Given the description of an element on the screen output the (x, y) to click on. 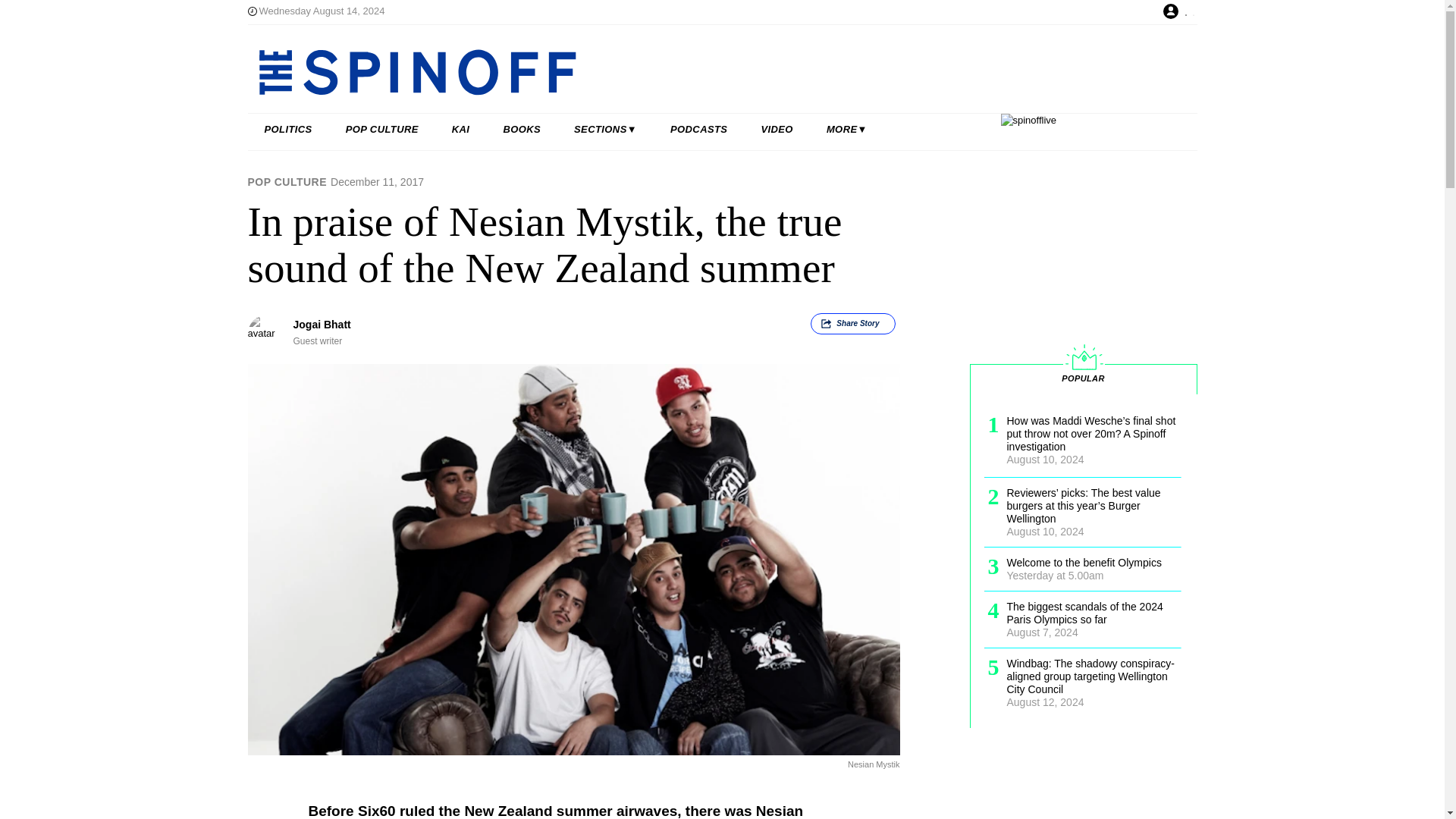
SECTIONS (605, 129)
POP CULTURE (382, 129)
PODCASTS (698, 129)
BOOKS (521, 129)
POLITICS (288, 129)
MORE (846, 129)
VIDEO (776, 129)
KAI (460, 129)
view all posts by Jogai Bhatt (321, 324)
The Spinoff (673, 72)
